Given the description of an element on the screen output the (x, y) to click on. 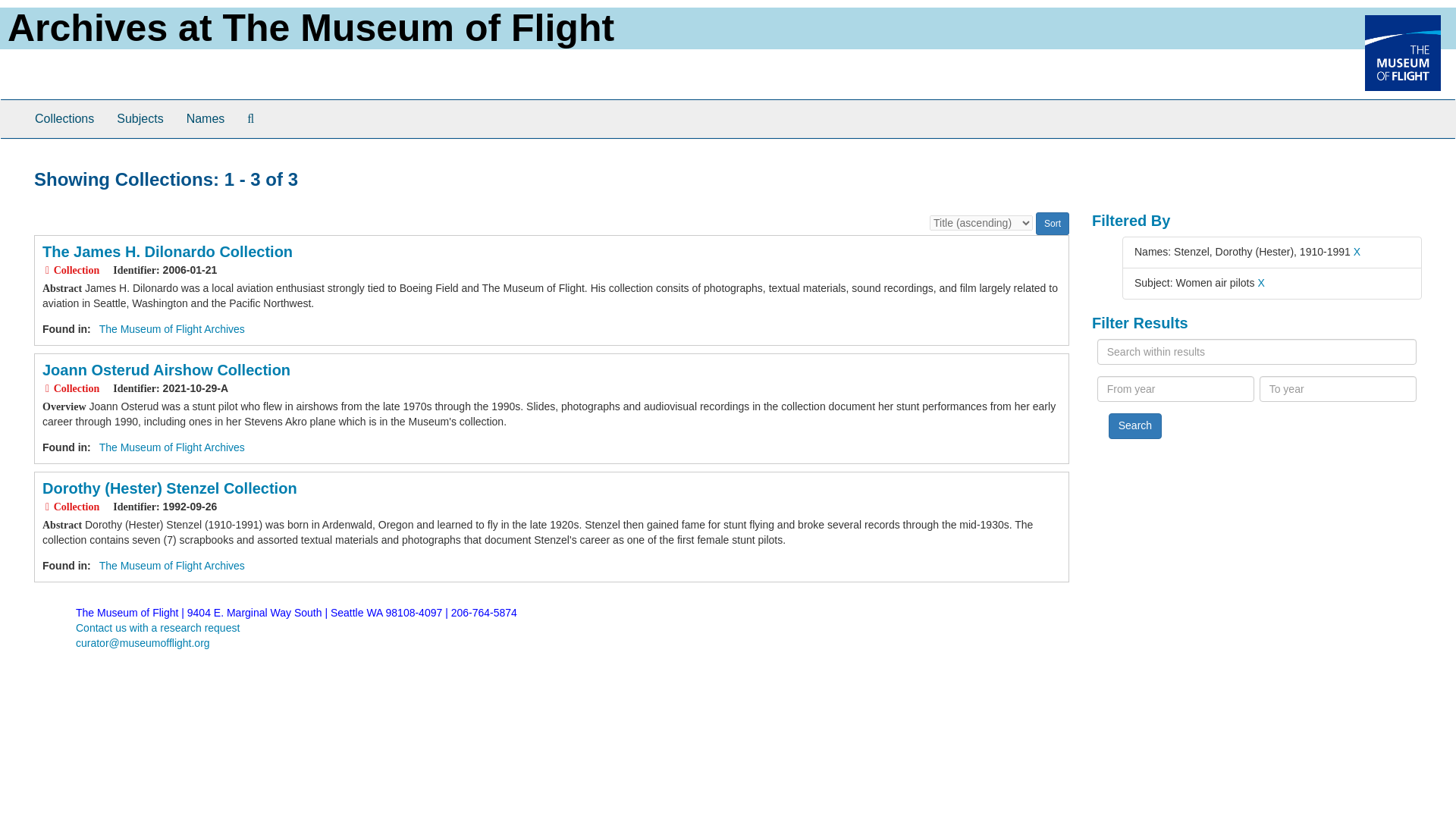
Search within results (1256, 351)
Contact us with a research request (157, 627)
Names (204, 118)
The Museum of Flight Archives (171, 328)
Sort (1051, 223)
The James H. Dilonardo Collection (167, 251)
Joann Osterud Airshow Collection (165, 369)
Archives at The Museum of Flight (310, 27)
Sort (1051, 223)
Search (1134, 425)
The Museum of Flight Archives (171, 447)
Collections (63, 118)
Search (1134, 425)
The Museum of Flight Archives (171, 565)
Subjects (139, 118)
